Given the description of an element on the screen output the (x, y) to click on. 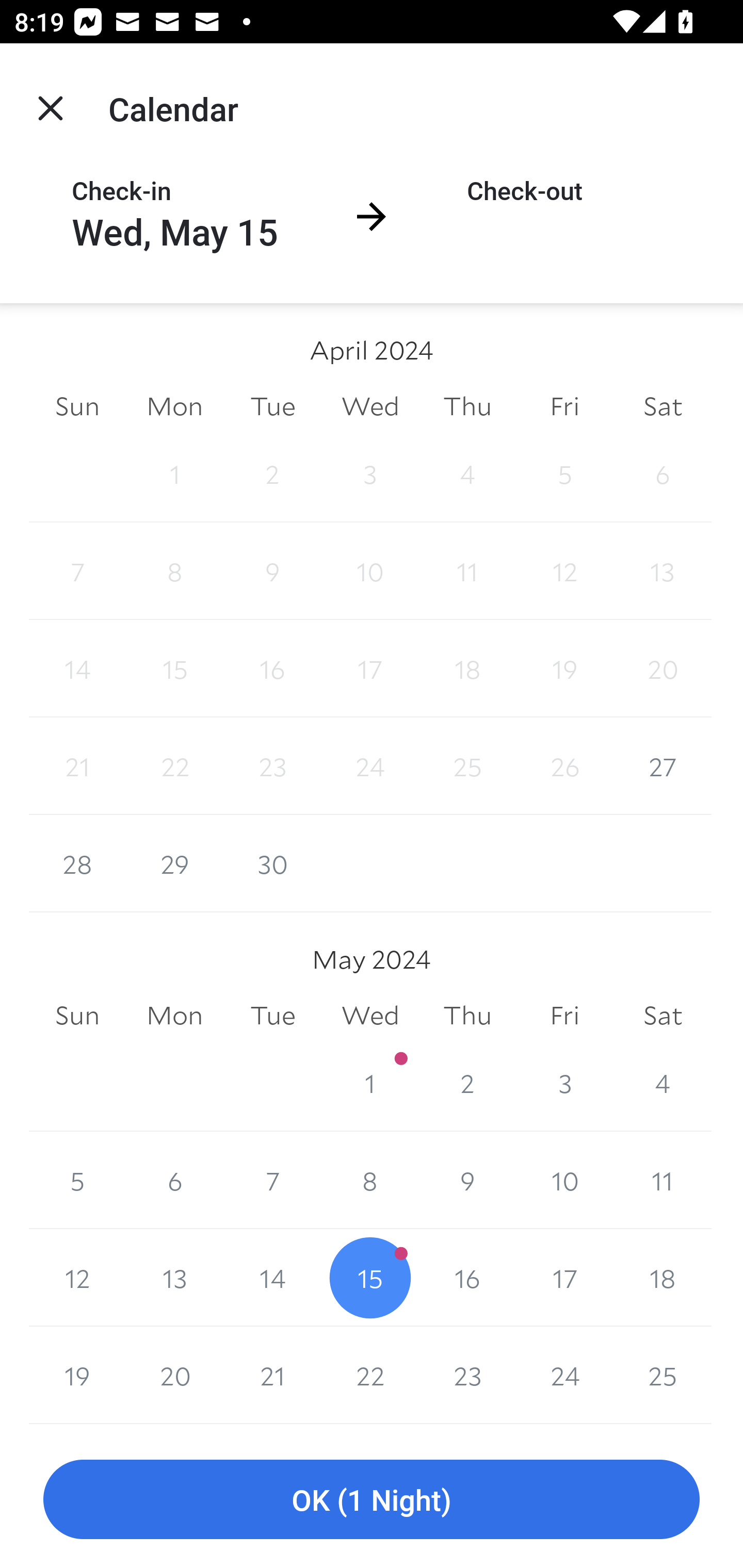
Sun (77, 405)
Mon (174, 405)
Tue (272, 405)
Wed (370, 405)
Thu (467, 405)
Fri (564, 405)
Sat (662, 405)
1 1 April 2024 (174, 473)
2 2 April 2024 (272, 473)
3 3 April 2024 (370, 473)
4 4 April 2024 (467, 473)
5 5 April 2024 (564, 473)
6 6 April 2024 (662, 473)
7 7 April 2024 (77, 570)
8 8 April 2024 (174, 570)
9 9 April 2024 (272, 570)
10 10 April 2024 (370, 570)
11 11 April 2024 (467, 570)
12 12 April 2024 (564, 570)
13 13 April 2024 (662, 570)
14 14 April 2024 (77, 668)
15 15 April 2024 (174, 668)
16 16 April 2024 (272, 668)
17 17 April 2024 (370, 668)
18 18 April 2024 (467, 668)
19 19 April 2024 (564, 668)
20 20 April 2024 (662, 668)
21 21 April 2024 (77, 766)
22 22 April 2024 (174, 766)
23 23 April 2024 (272, 766)
24 24 April 2024 (370, 766)
25 25 April 2024 (467, 766)
26 26 April 2024 (564, 766)
27 27 April 2024 (662, 766)
28 28 April 2024 (77, 863)
29 29 April 2024 (174, 863)
30 30 April 2024 (272, 863)
Sun (77, 1015)
Mon (174, 1015)
Tue (272, 1015)
Wed (370, 1015)
Thu (467, 1015)
Fri (564, 1015)
Sat (662, 1015)
1 1 May 2024 (370, 1083)
2 2 May 2024 (467, 1083)
3 3 May 2024 (564, 1083)
4 4 May 2024 (662, 1083)
5 5 May 2024 (77, 1180)
